Given the description of an element on the screen output the (x, y) to click on. 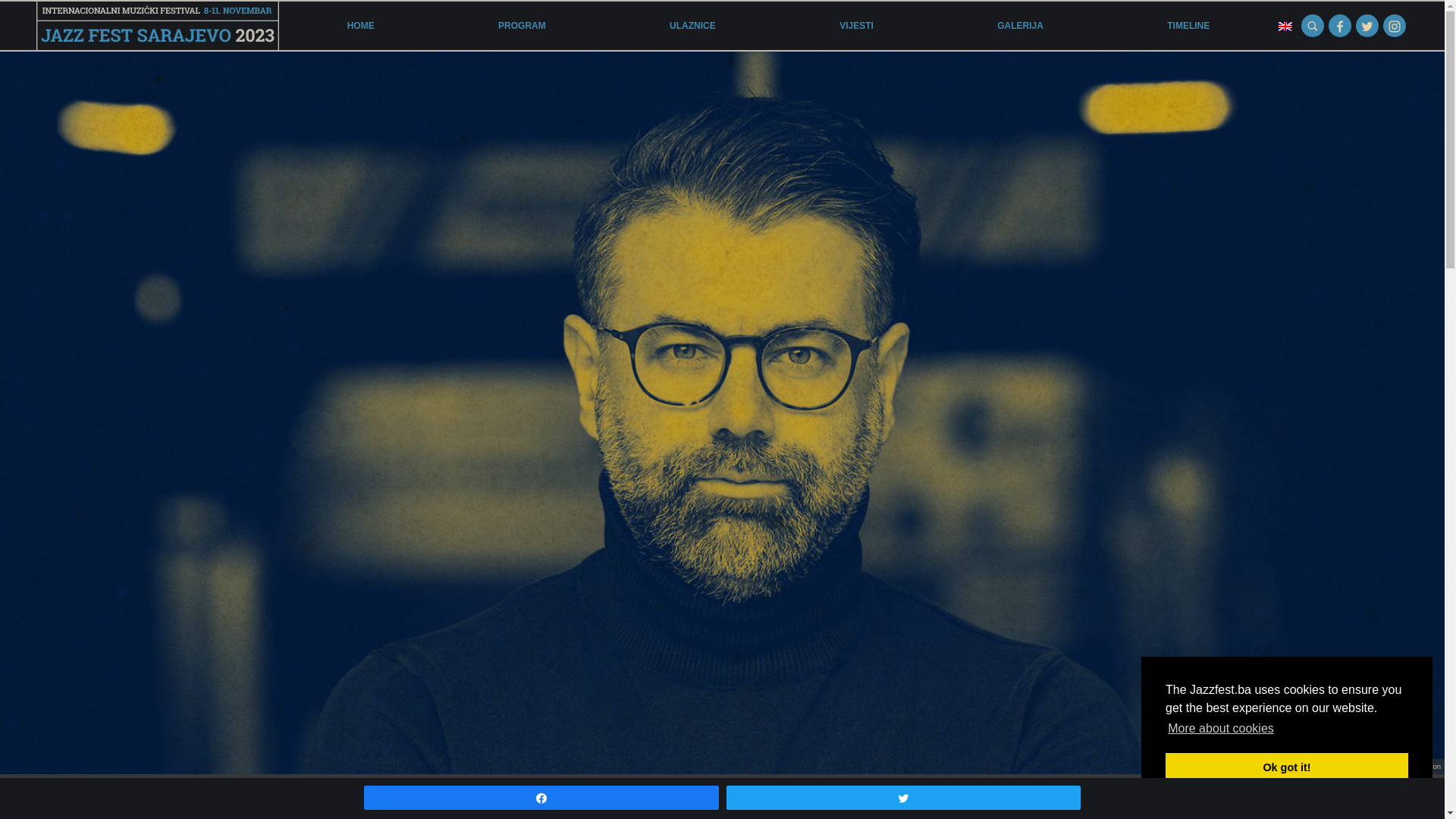
VIJESTI Element type: text (856, 25)
Search Element type: hover (1312, 25)
HOME Element type: text (360, 25)
jazzfest.ba Element type: hover (157, 25)
GALERIJA Element type: text (1020, 25)
More about cookies Element type: text (1220, 728)
Ok got it! Element type: text (1286, 767)
TIMELINE Element type: text (1188, 25)
PROGRAM Element type: text (522, 25)
ULAZNICE Element type: text (692, 25)
